Given the description of an element on the screen output the (x, y) to click on. 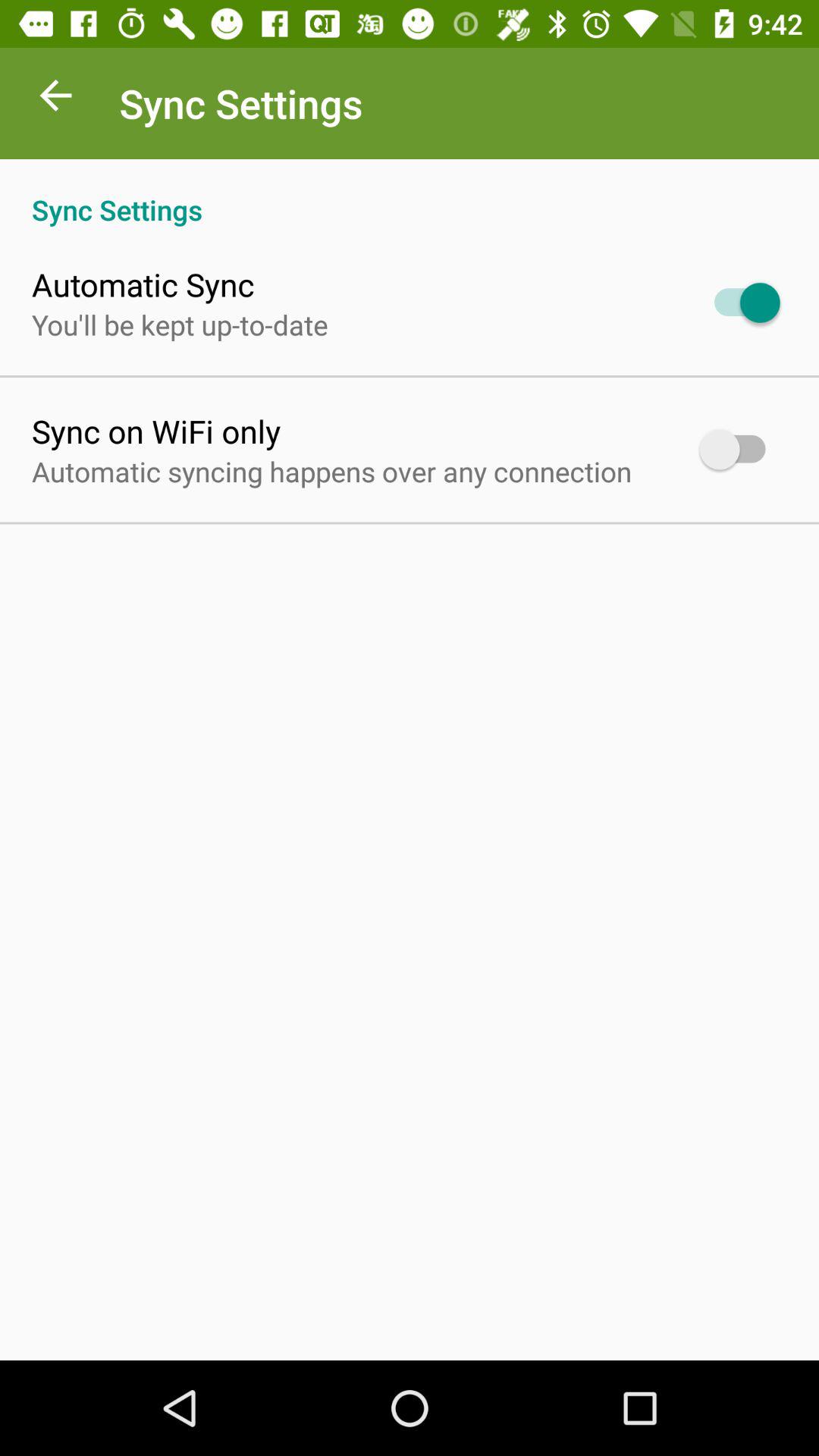
open the you ll be app (179, 324)
